Given the description of an element on the screen output the (x, y) to click on. 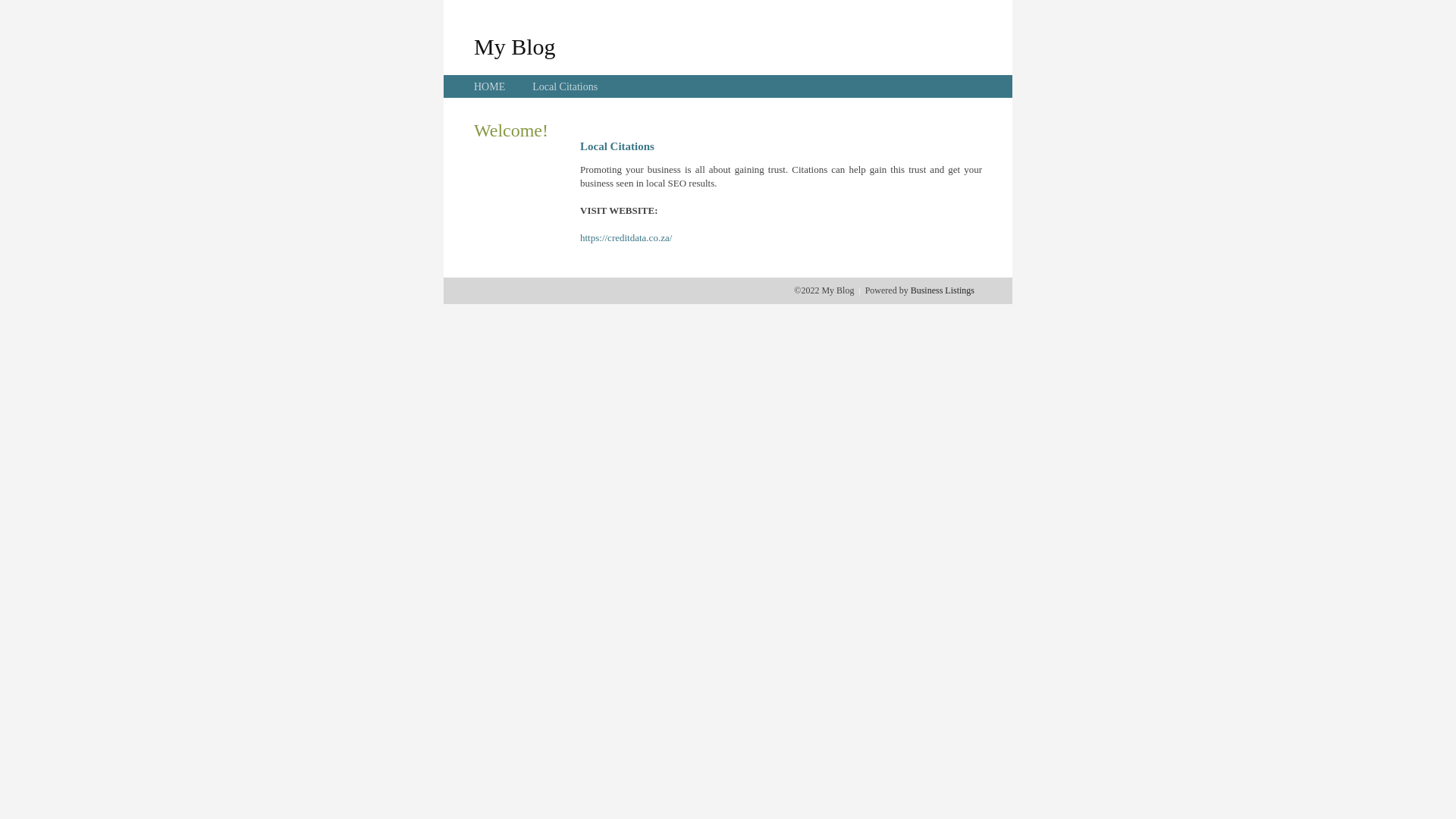
My Blog Element type: text (514, 46)
https://creditdata.co.za/ Element type: text (625, 237)
Local Citations Element type: text (564, 86)
Business Listings Element type: text (942, 290)
HOME Element type: text (489, 86)
